Given the description of an element on the screen output the (x, y) to click on. 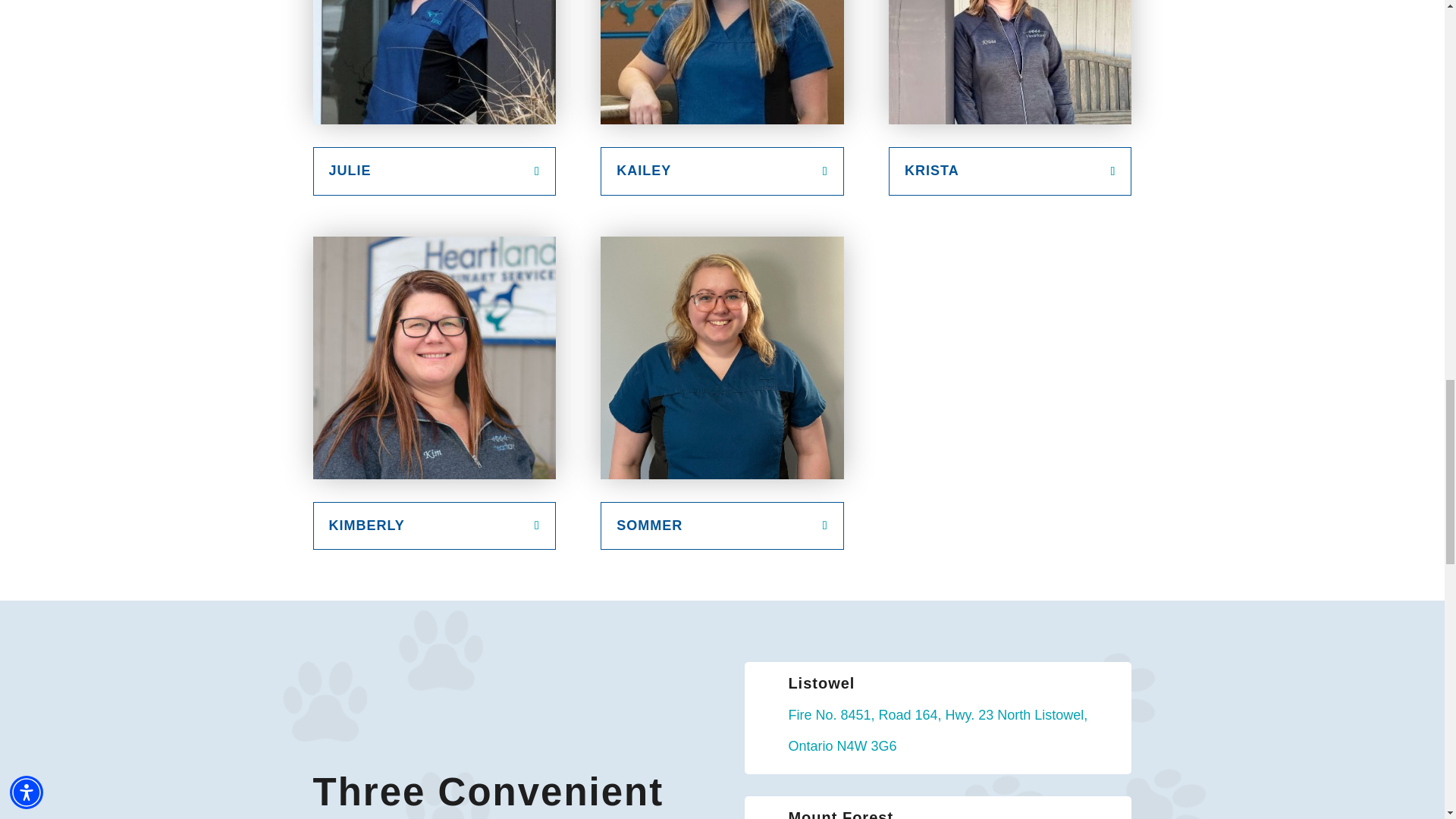
Krista (1009, 62)
Kimberly (433, 357)
heartland - kailey (721, 62)
heartland - julie (433, 62)
